Given the description of an element on the screen output the (x, y) to click on. 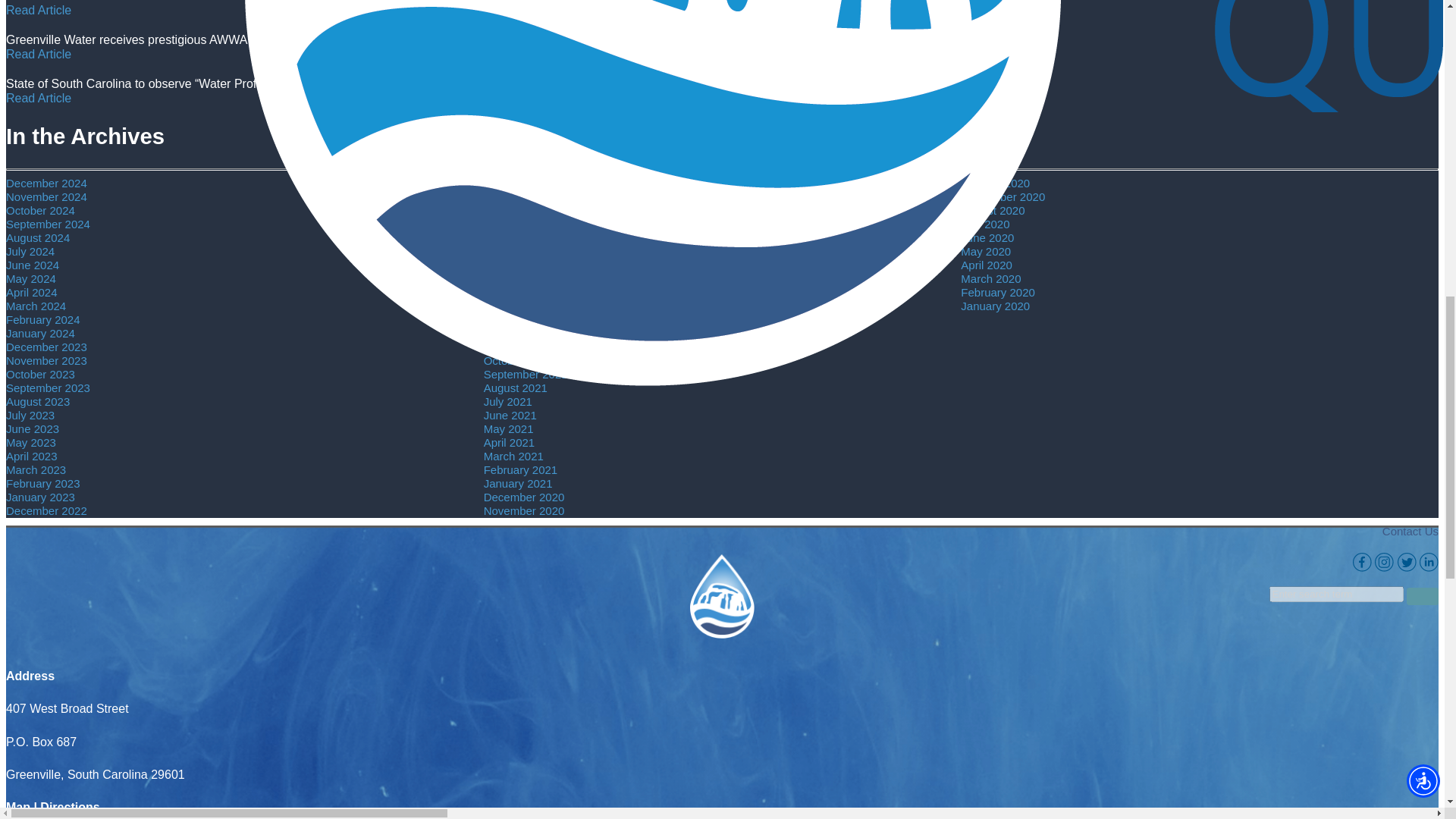
Contact Us (1409, 530)
